Given the description of an element on the screen output the (x, y) to click on. 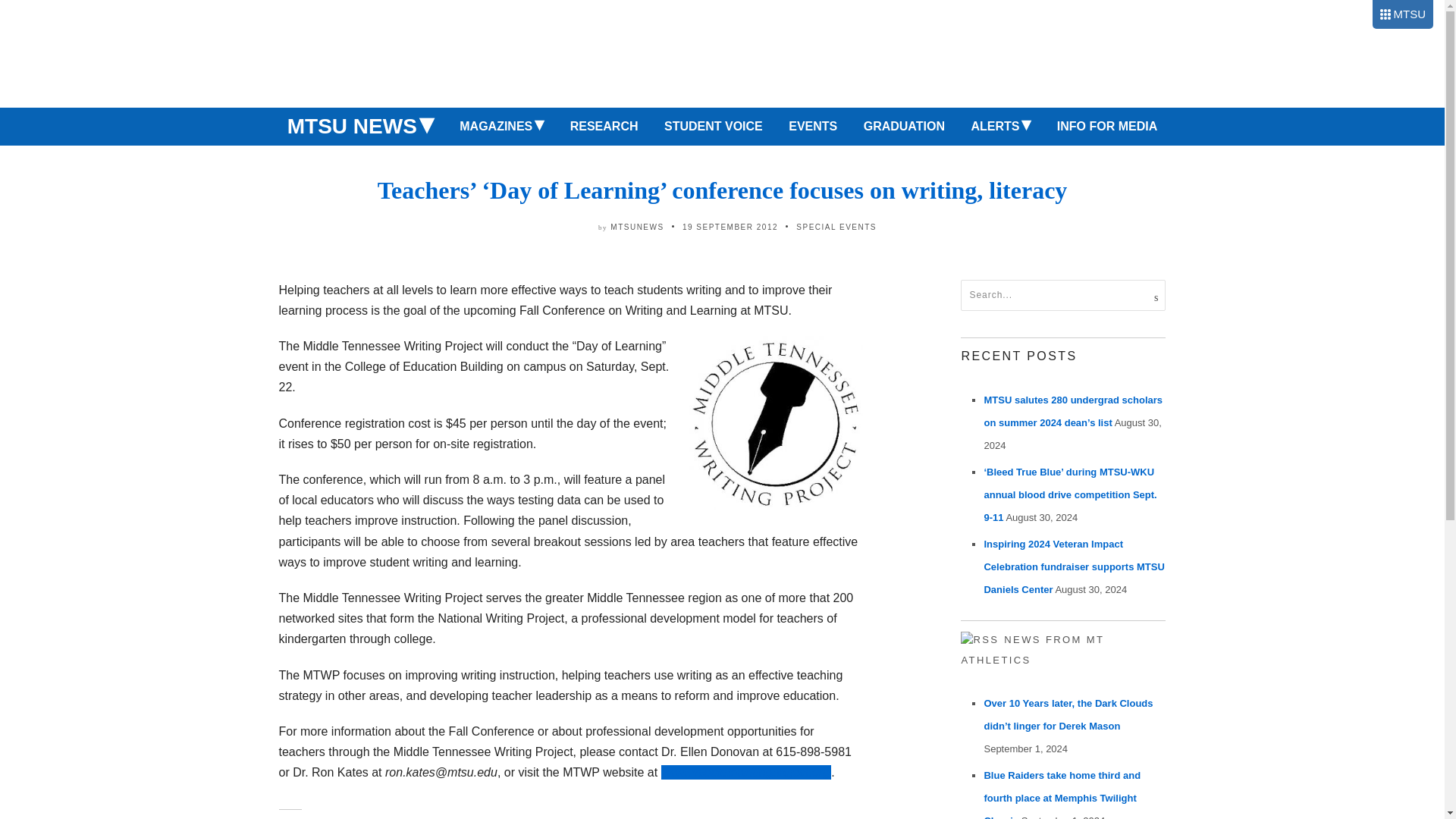
September 19, 2012 2:58 (729, 226)
Posts by mtsunews (636, 226)
MT Writing Project logo (774, 422)
